Given the description of an element on the screen output the (x, y) to click on. 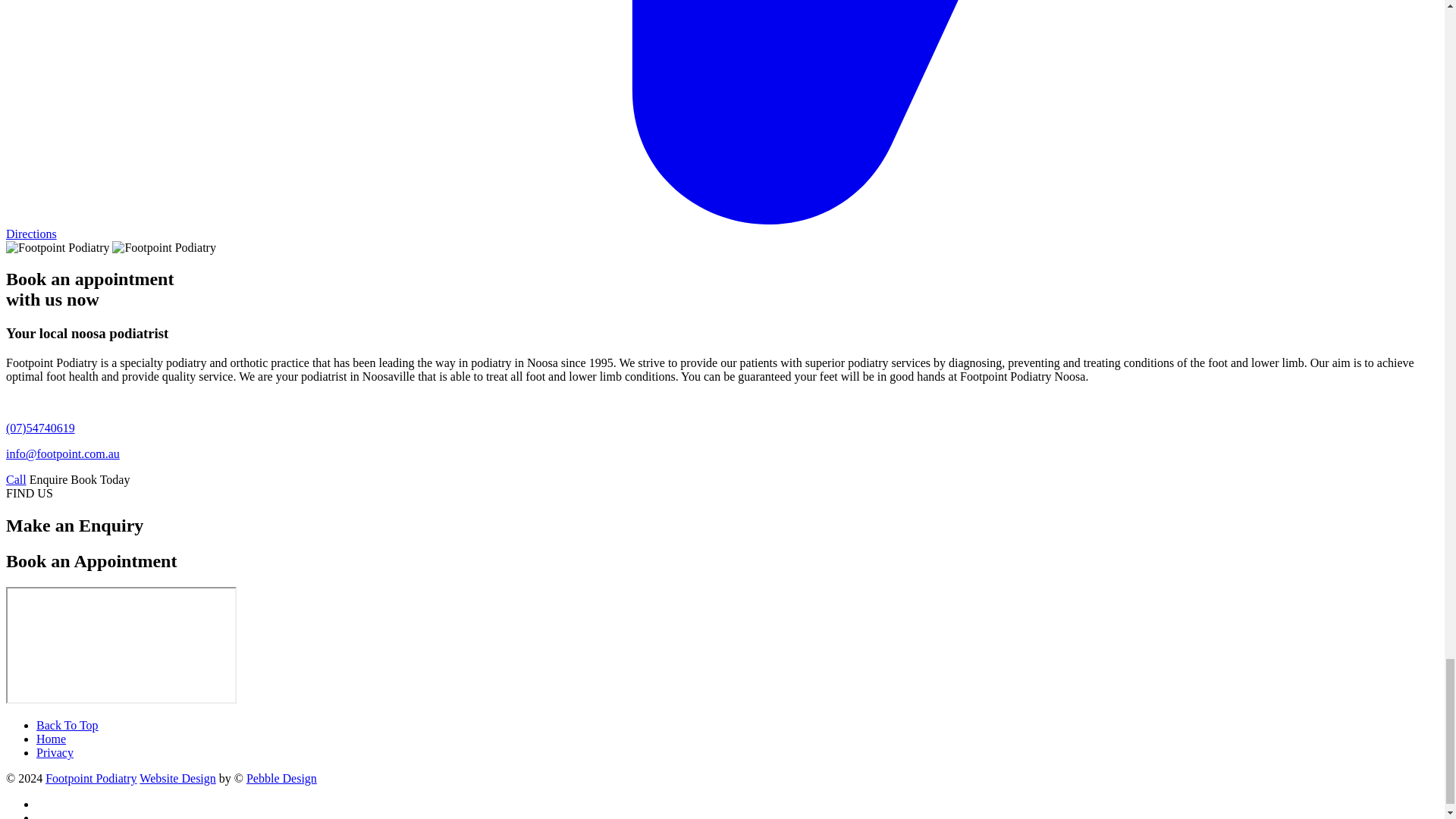
Footpoint Podiatry (90, 778)
Website Design (177, 778)
Pebble Design (281, 778)
Home (50, 738)
Call Us (40, 427)
Book Today (99, 479)
Email Us (62, 453)
Privacy (55, 752)
Back To Top (67, 725)
Website Design (177, 778)
